Given the description of an element on the screen output the (x, y) to click on. 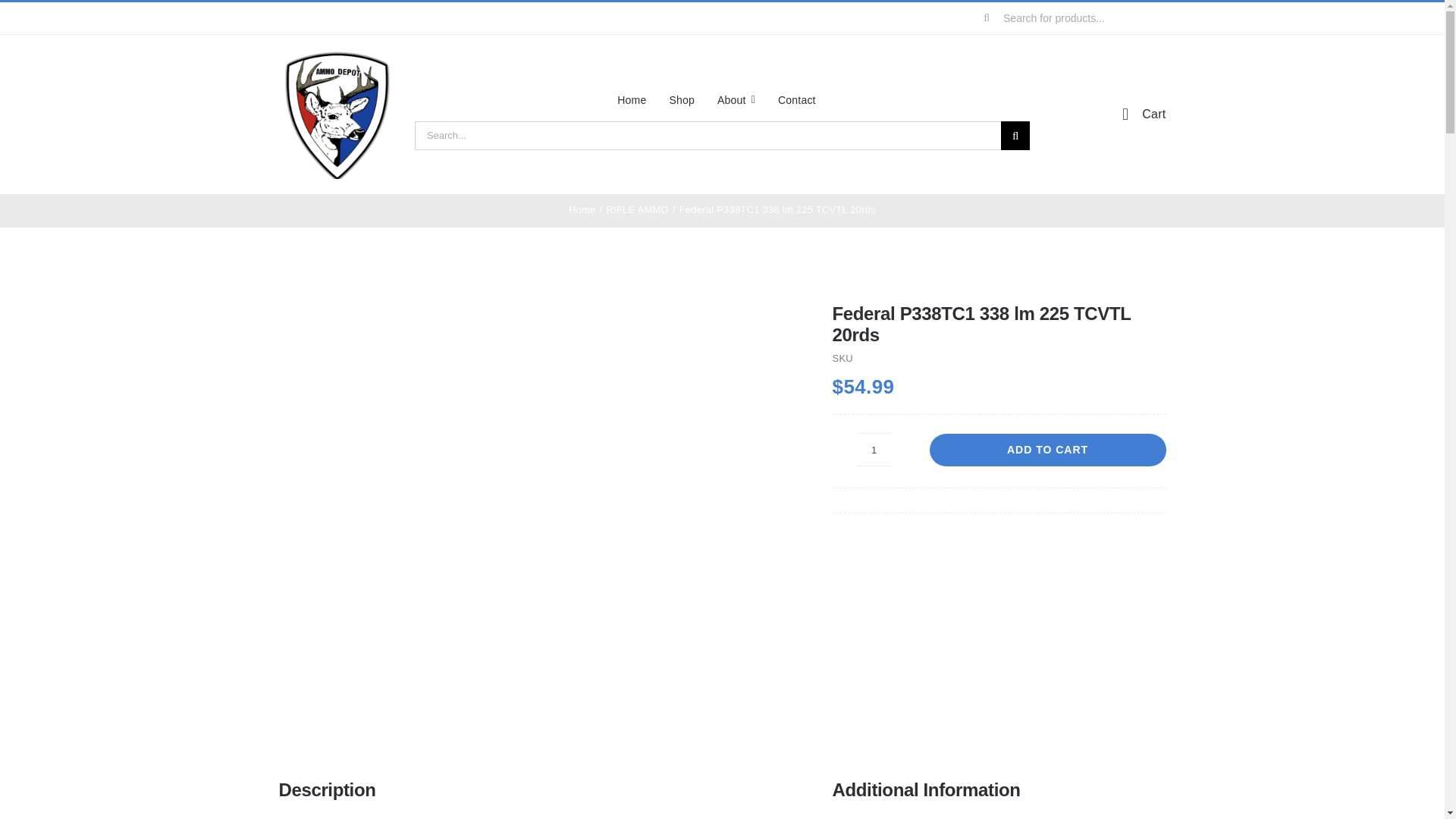
Contact (796, 99)
Home (582, 209)
ADD TO CART (1048, 450)
RIFLE AMMO (636, 209)
1 (874, 449)
About (736, 99)
